Given the description of an element on the screen output the (x, y) to click on. 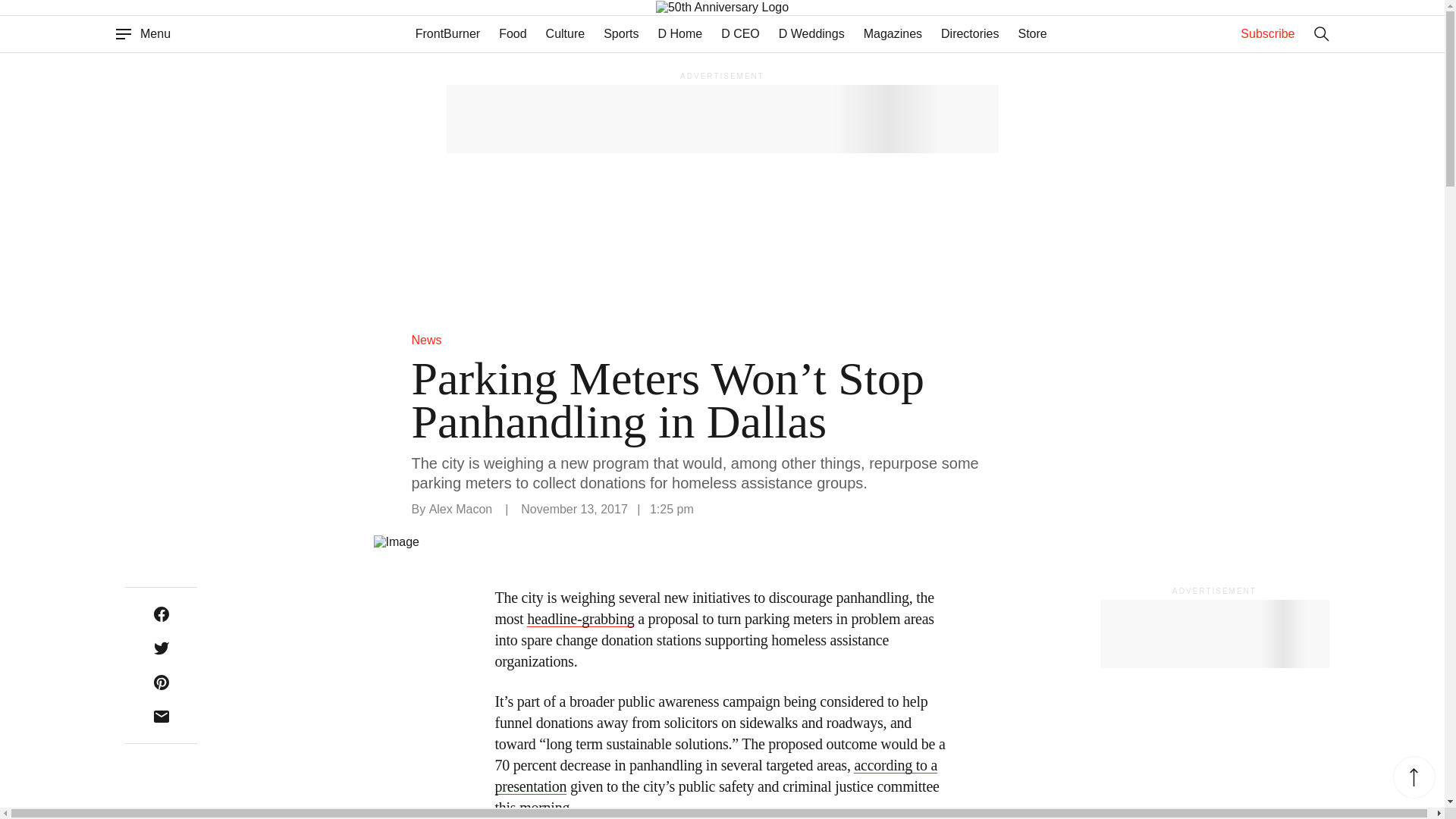
Subscribe (1267, 34)
D Weddings (811, 33)
D Home (679, 33)
Magazines (892, 33)
Sports (621, 33)
Culture (565, 33)
Directories (969, 33)
D Magazine 50th Anniversary Article (752, 7)
FrontBurner (447, 33)
